Given the description of an element on the screen output the (x, y) to click on. 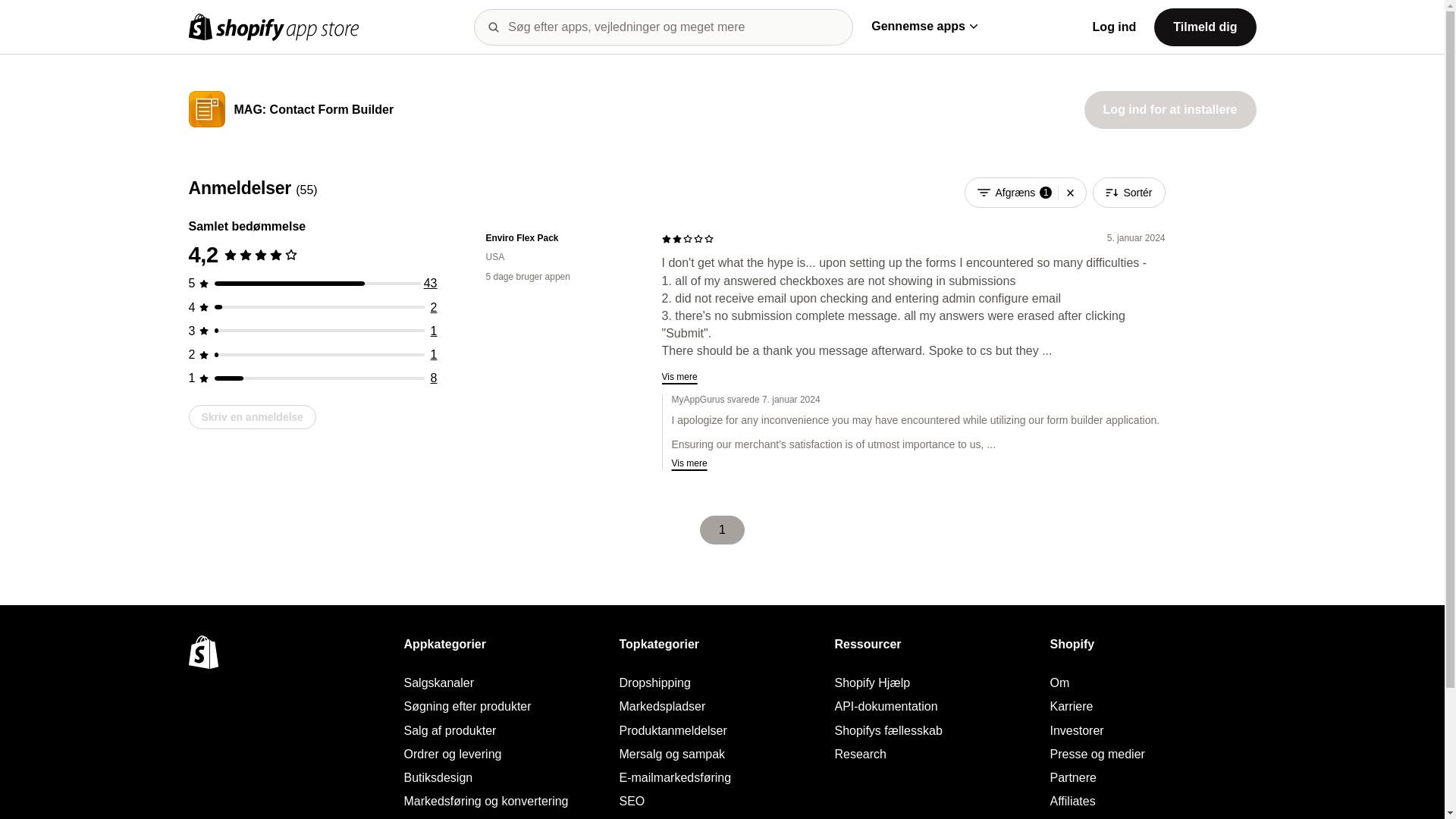
8 (434, 377)
Log ind (1115, 27)
Gennemse apps (923, 26)
Enviro Flex Pack (560, 237)
1 (434, 354)
Tilmeld dig (1204, 26)
MAG: Contact Form Builder (312, 110)
43 (430, 282)
1 (434, 330)
2 (434, 307)
Log ind for at installere (1170, 109)
